Given the description of an element on the screen output the (x, y) to click on. 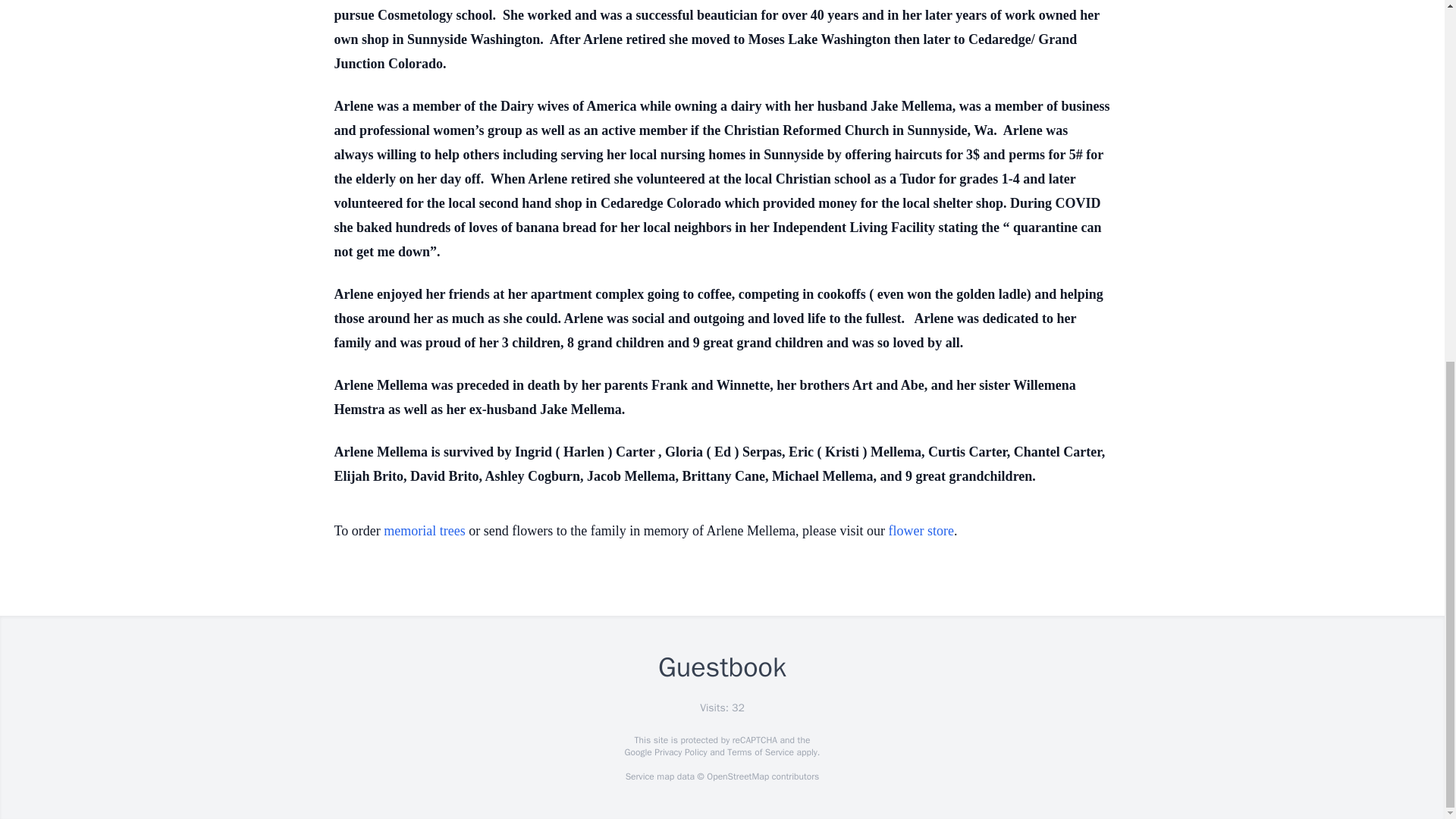
OpenStreetMap (737, 776)
Terms of Service (759, 752)
memorial trees (424, 530)
flower store (920, 530)
Privacy Policy (679, 752)
